Given the description of an element on the screen output the (x, y) to click on. 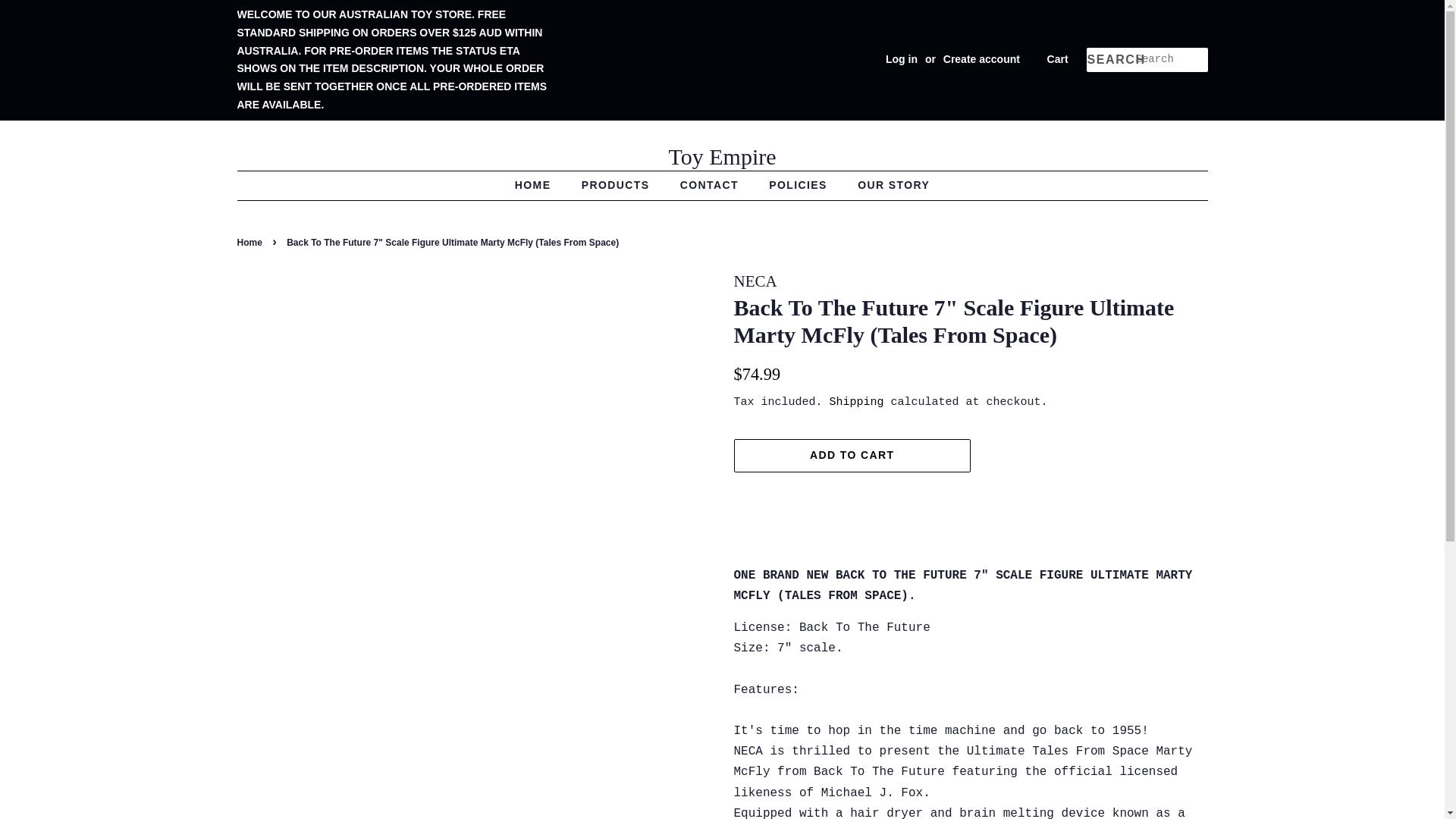
Back to the frontpage (249, 242)
Log in (901, 59)
SEARCH (1110, 59)
Create account (981, 59)
Cart (1057, 59)
